Given the description of an element on the screen output the (x, y) to click on. 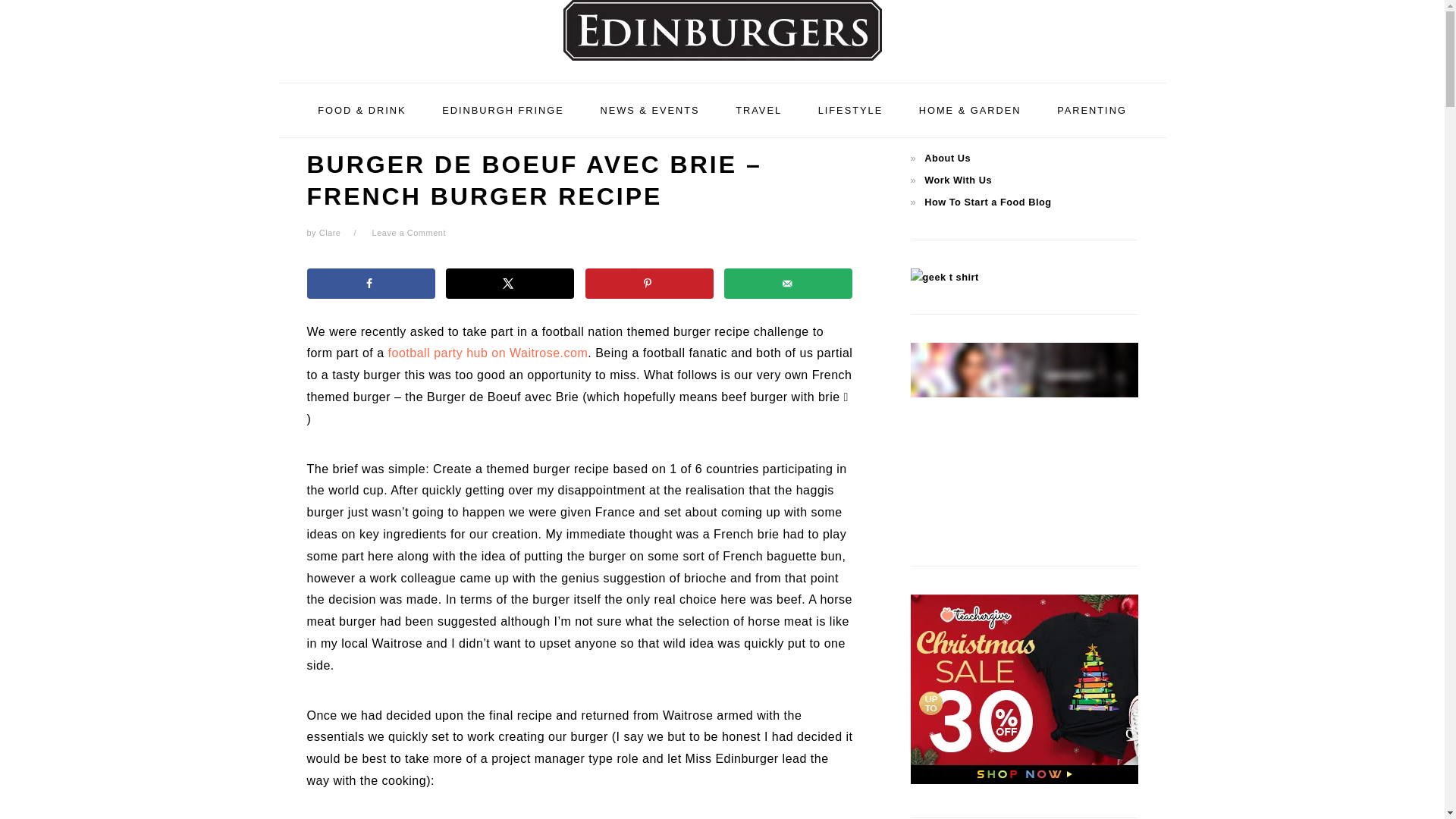
Edinburgers (721, 30)
Edinburgers (722, 38)
Clare (329, 232)
PARENTING (1091, 109)
football party hub on Waitrose.com (488, 352)
Leave a Comment (408, 232)
teacher t shirts (1023, 780)
geek t shirt (944, 276)
Share on Facebook (369, 283)
TRAVEL (758, 109)
Save to Pinterest (649, 283)
Share on X (509, 283)
EDINBURGH FRINGE (502, 109)
Send over email (787, 283)
